Given the description of an element on the screen output the (x, y) to click on. 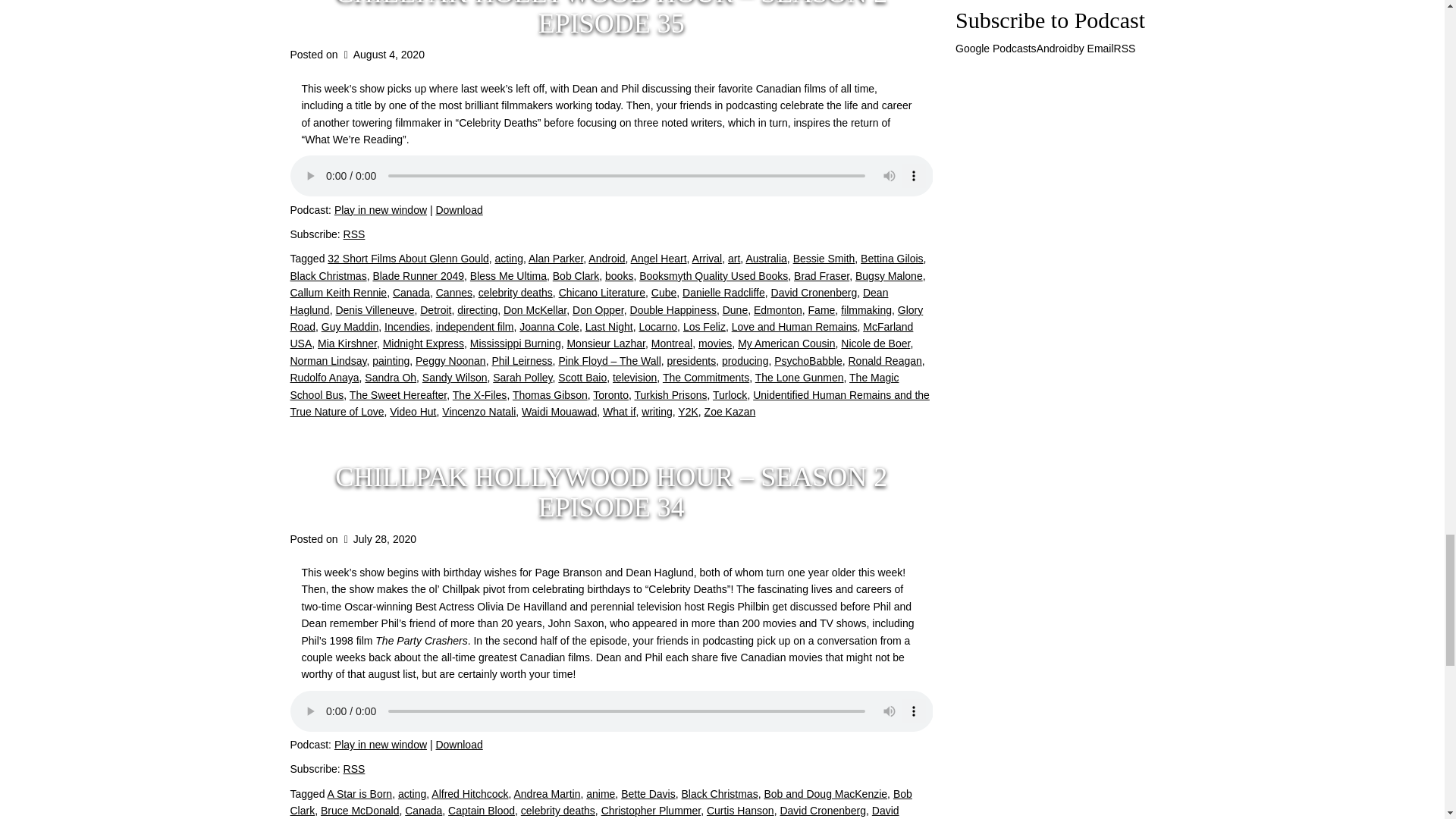
Download (458, 209)
Play in new window (380, 209)
